Given the description of an element on the screen output the (x, y) to click on. 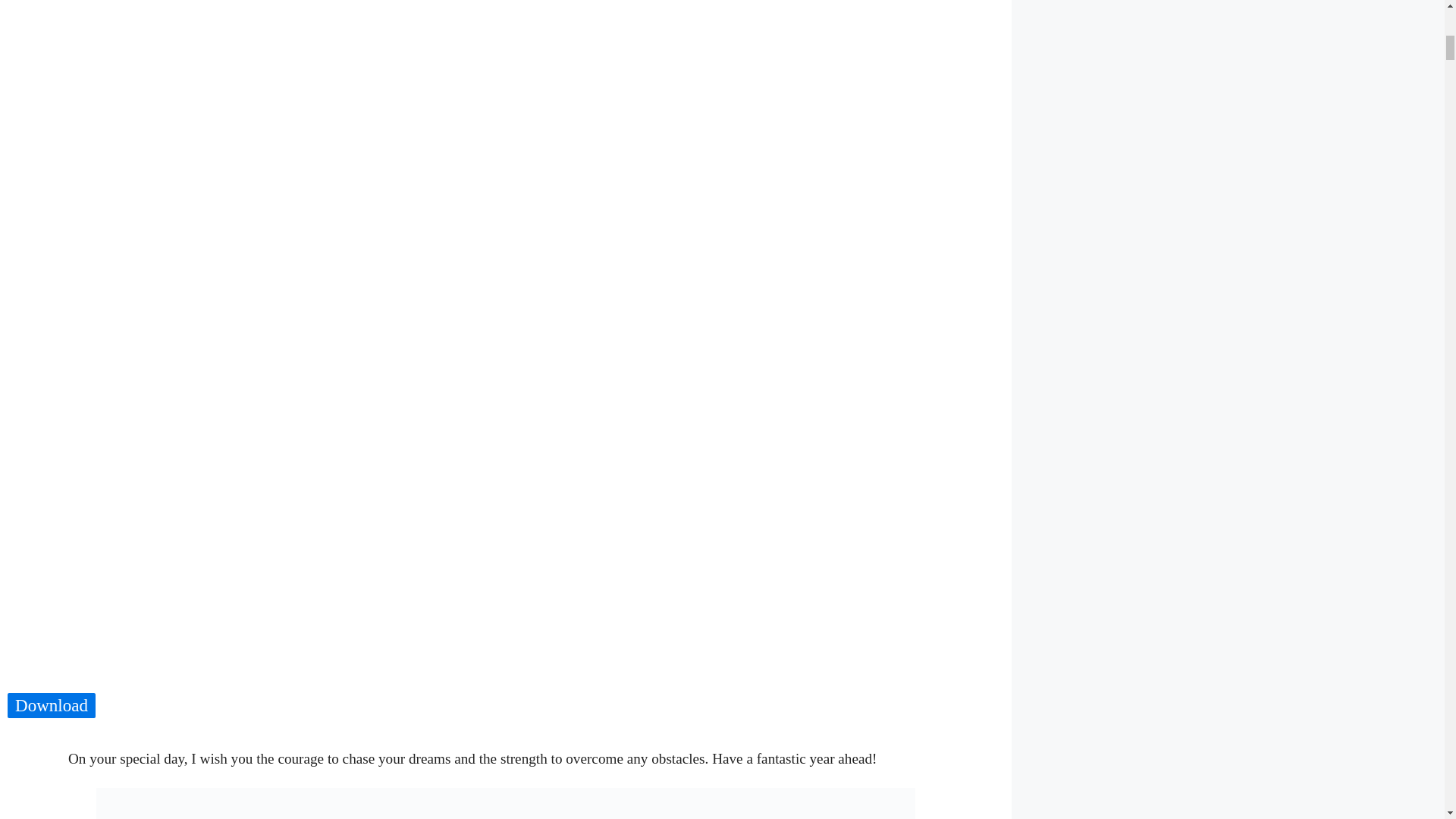
Download (51, 705)
Download (51, 706)
